Given the description of an element on the screen output the (x, y) to click on. 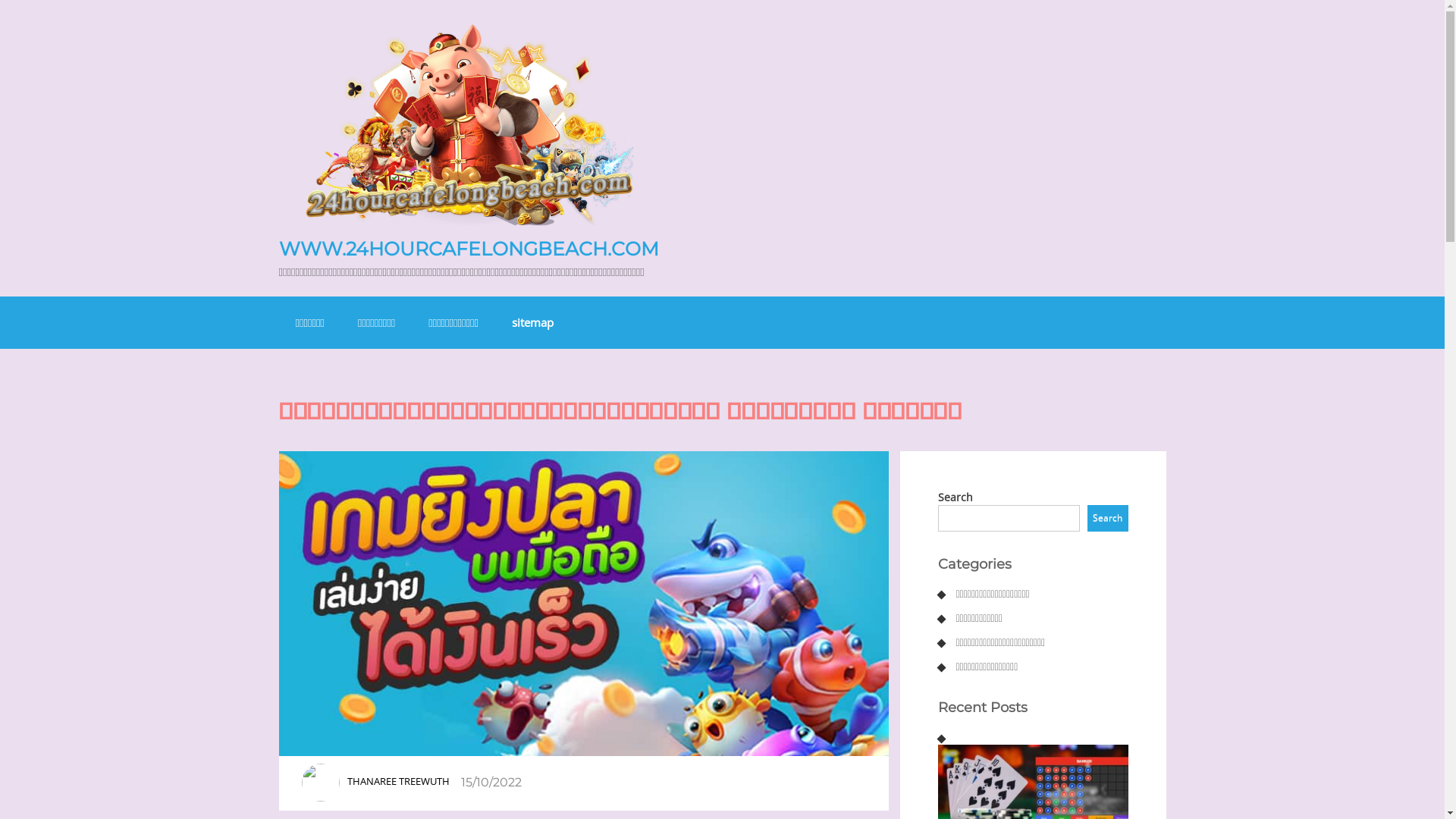
WWW.24HOURCAFELONGBEACH.COM Element type: text (468, 248)
THANAREE TREEWUTH Element type: text (398, 780)
Search Element type: text (1107, 518)
15/10/2022 Element type: text (491, 781)
sitemap Element type: text (532, 322)
